Given the description of an element on the screen output the (x, y) to click on. 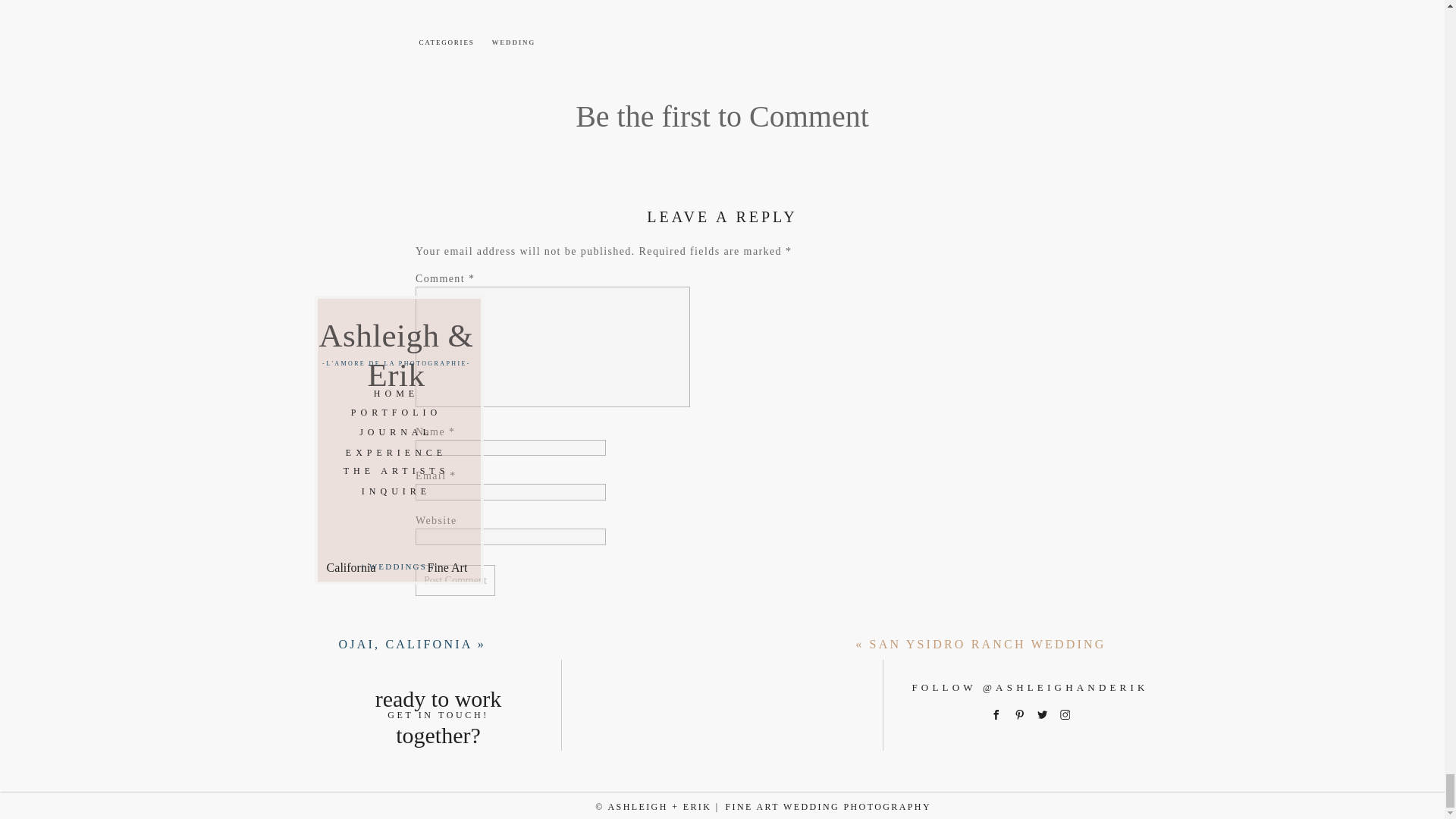
FINE ART WEDDING PHOTOGRAPHY (844, 804)
OJAI, CALIFONIA (405, 644)
SAN YSIDRO RANCH WEDDING (987, 644)
Post Comment (454, 581)
Post Comment (454, 581)
WEDDING (513, 41)
Be the first to Comment (722, 116)
GET IN TOUCH! (437, 706)
